Given the description of an element on the screen output the (x, y) to click on. 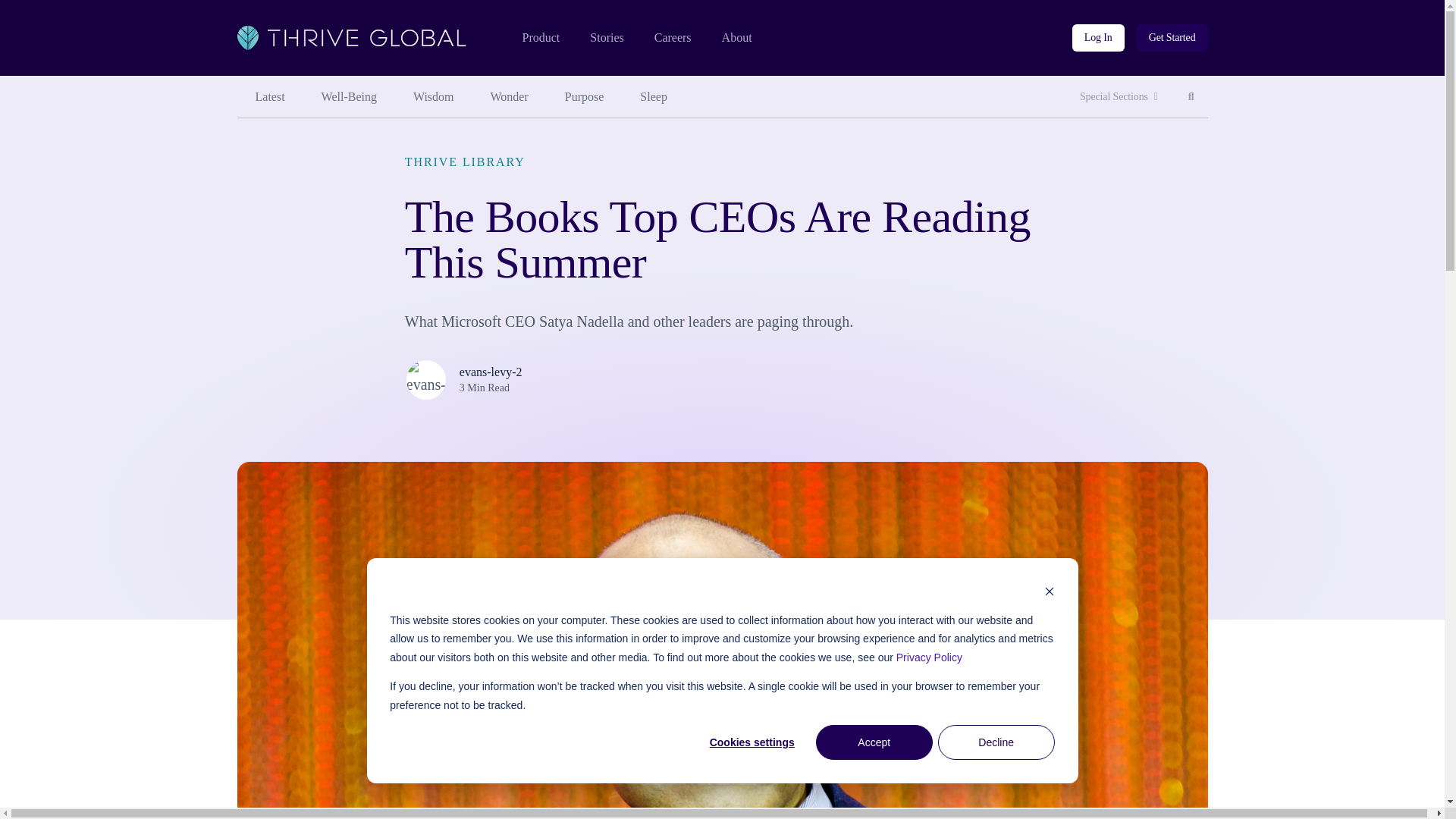
Log In (1097, 37)
Get Started (1172, 37)
Purpose (585, 96)
Sleep (653, 96)
About (737, 37)
Stories (606, 37)
Latest (268, 96)
Well-Being (1191, 97)
Careers (348, 96)
Wonder (672, 37)
Special Sections (509, 96)
Wisdom (1118, 97)
Product (432, 96)
